Given the description of an element on the screen output the (x, y) to click on. 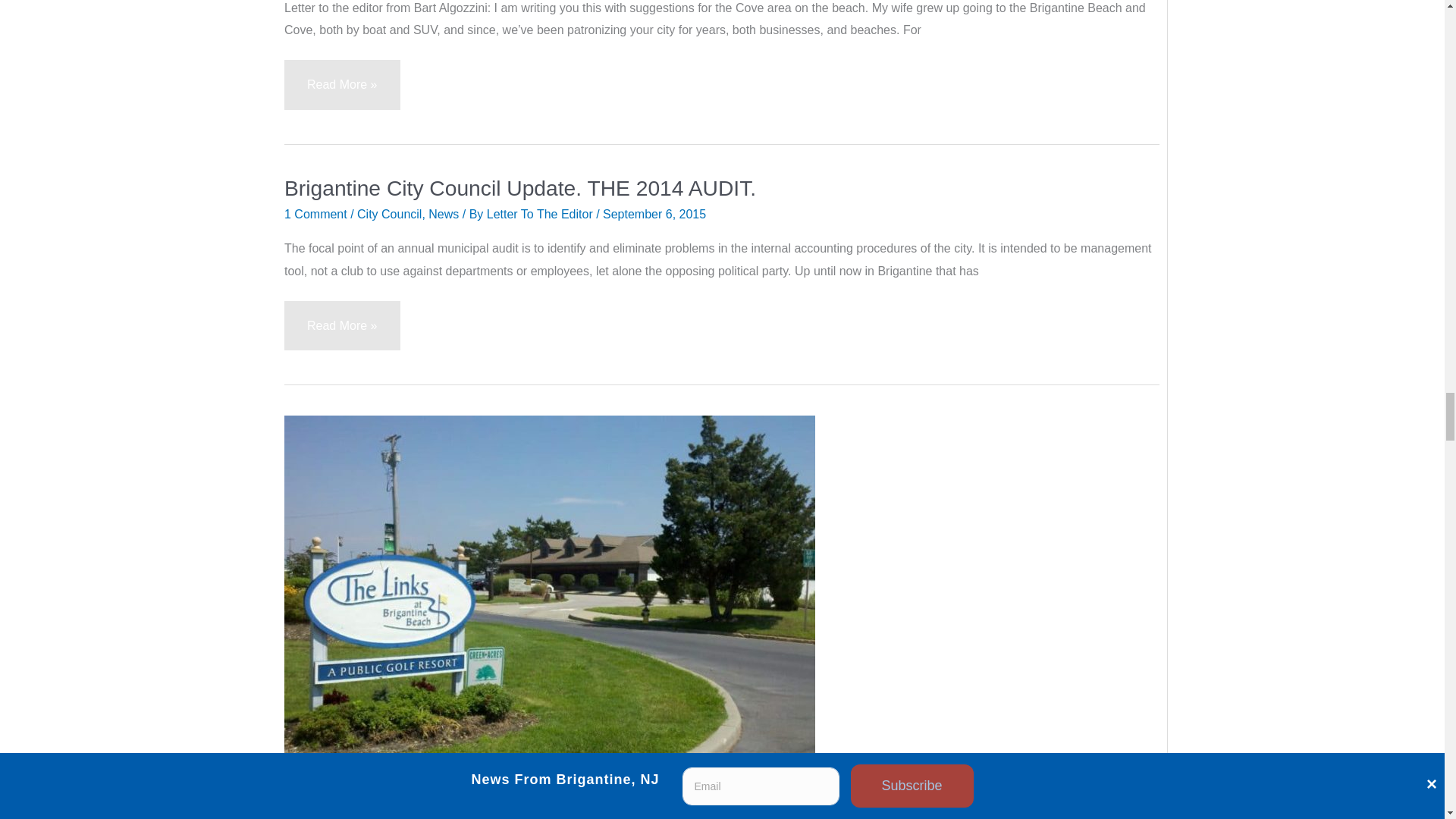
View all posts by Letter To The Editor (540, 214)
